Given the description of an element on the screen output the (x, y) to click on. 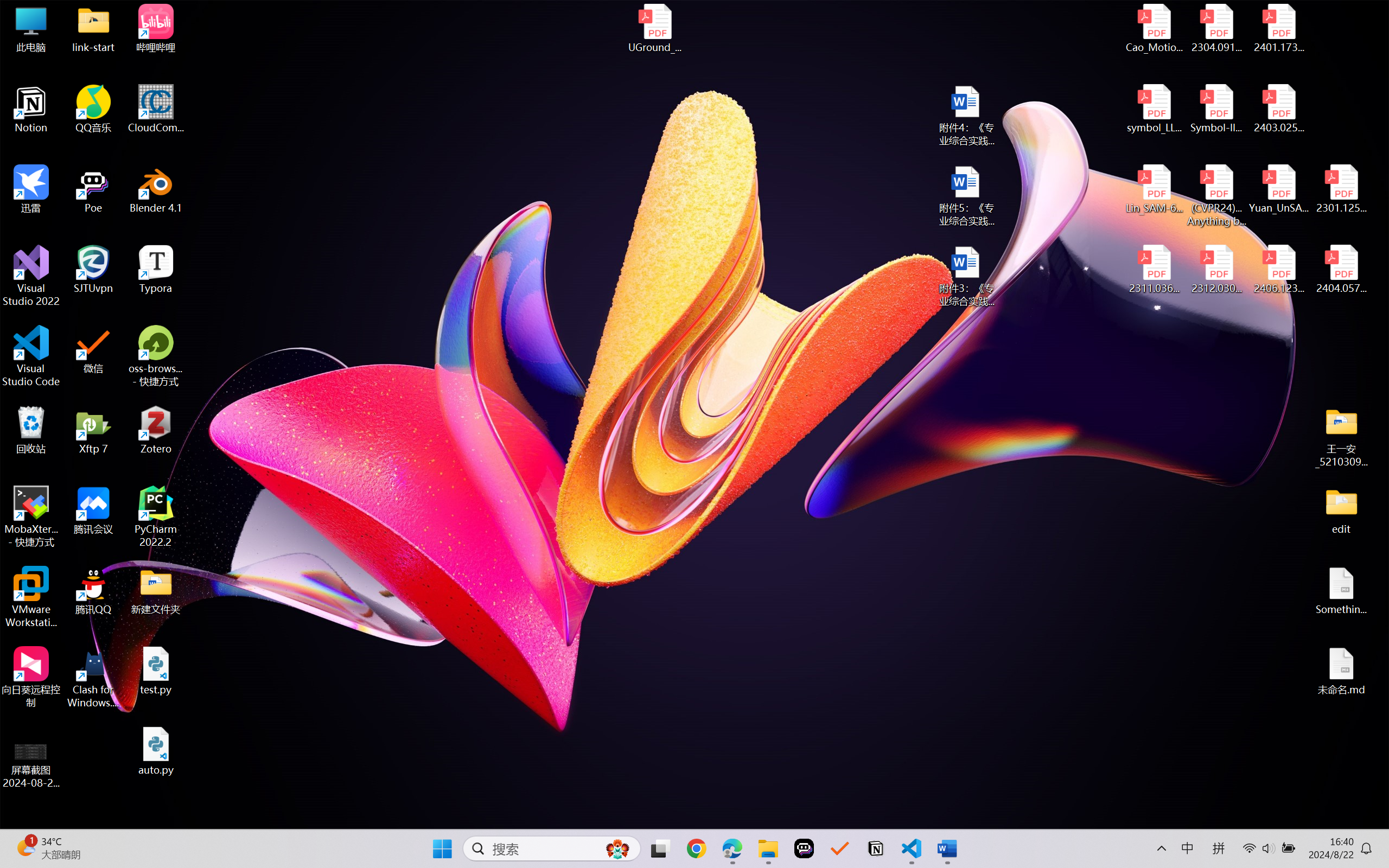
test.py (156, 670)
2311.03658v2.pdf (1154, 269)
Google Chrome (696, 848)
Visual Studio Code (31, 355)
Notion (31, 109)
symbol_LLM.pdf (1154, 109)
Xftp 7 (93, 430)
2304.09121v3.pdf (1216, 28)
